Given the description of an element on the screen output the (x, y) to click on. 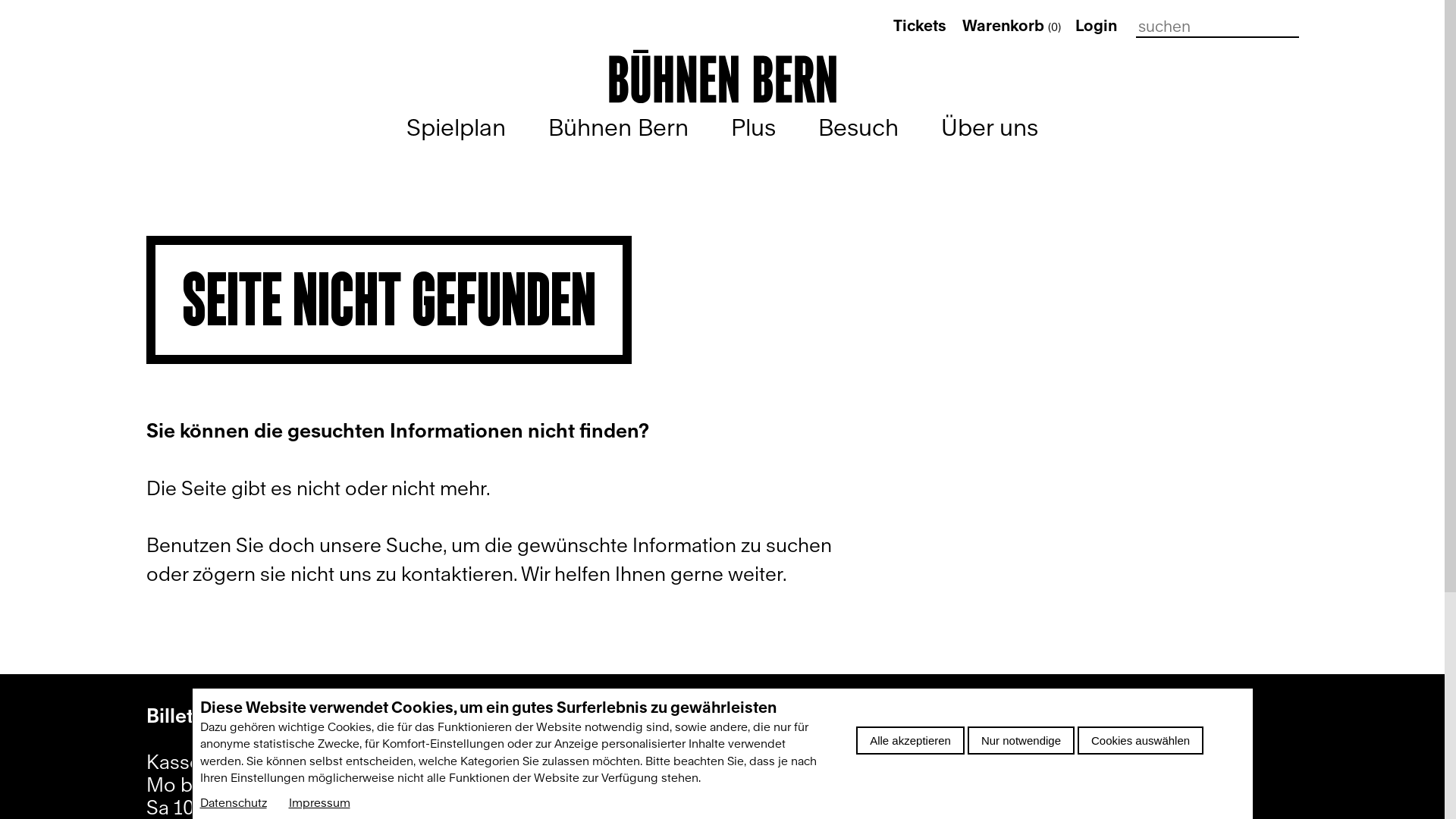
Monatsspielplan (Leporello) Element type: text (666, 760)
Login Element type: text (1096, 25)
Impressum Element type: text (318, 802)
Alle akzeptieren Element type: text (910, 740)
Tickets Element type: text (919, 25)
Nur notwendige Element type: text (1020, 740)
Warenkorb(0) Element type: text (1012, 25)
Kulturkuvert Element type: text (597, 804)
Datenschutz Element type: text (233, 802)
Newsletter abonnieren Element type: text (644, 717)
Presse Element type: text (970, 760)
Plus Element type: text (753, 127)
AGB Element type: text (959, 804)
Kontakt & Impressum Element type: text (1035, 717)
Besuch Element type: text (858, 127)
Spielplan Element type: text (455, 127)
